Given the description of an element on the screen output the (x, y) to click on. 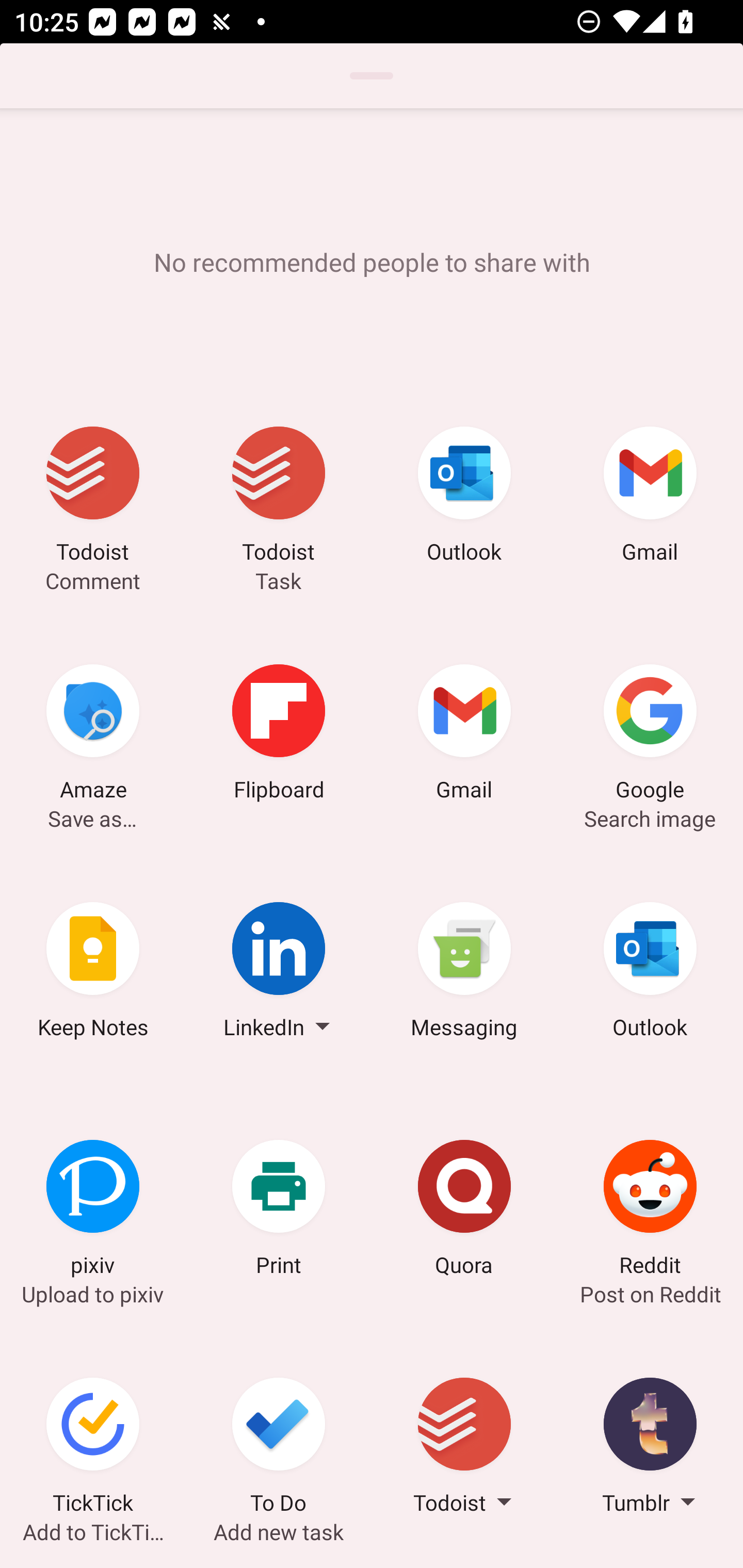
Todoist Comment (92, 497)
Todoist Task (278, 497)
Outlook (464, 497)
Gmail (650, 497)
Amaze Save as… (92, 735)
Flipboard (278, 735)
Gmail (464, 735)
Google Search image (650, 735)
Keep Notes (92, 973)
LinkedIn (278, 973)
Messaging (464, 973)
Outlook (650, 973)
pixiv Upload to pixiv (92, 1210)
Print (278, 1210)
Quora (464, 1210)
Reddit Post on Reddit (650, 1210)
TickTick Add to TickTick (92, 1448)
To Do Add new task (278, 1448)
Todoist (464, 1448)
Tumblr (650, 1448)
